Given the description of an element on the screen output the (x, y) to click on. 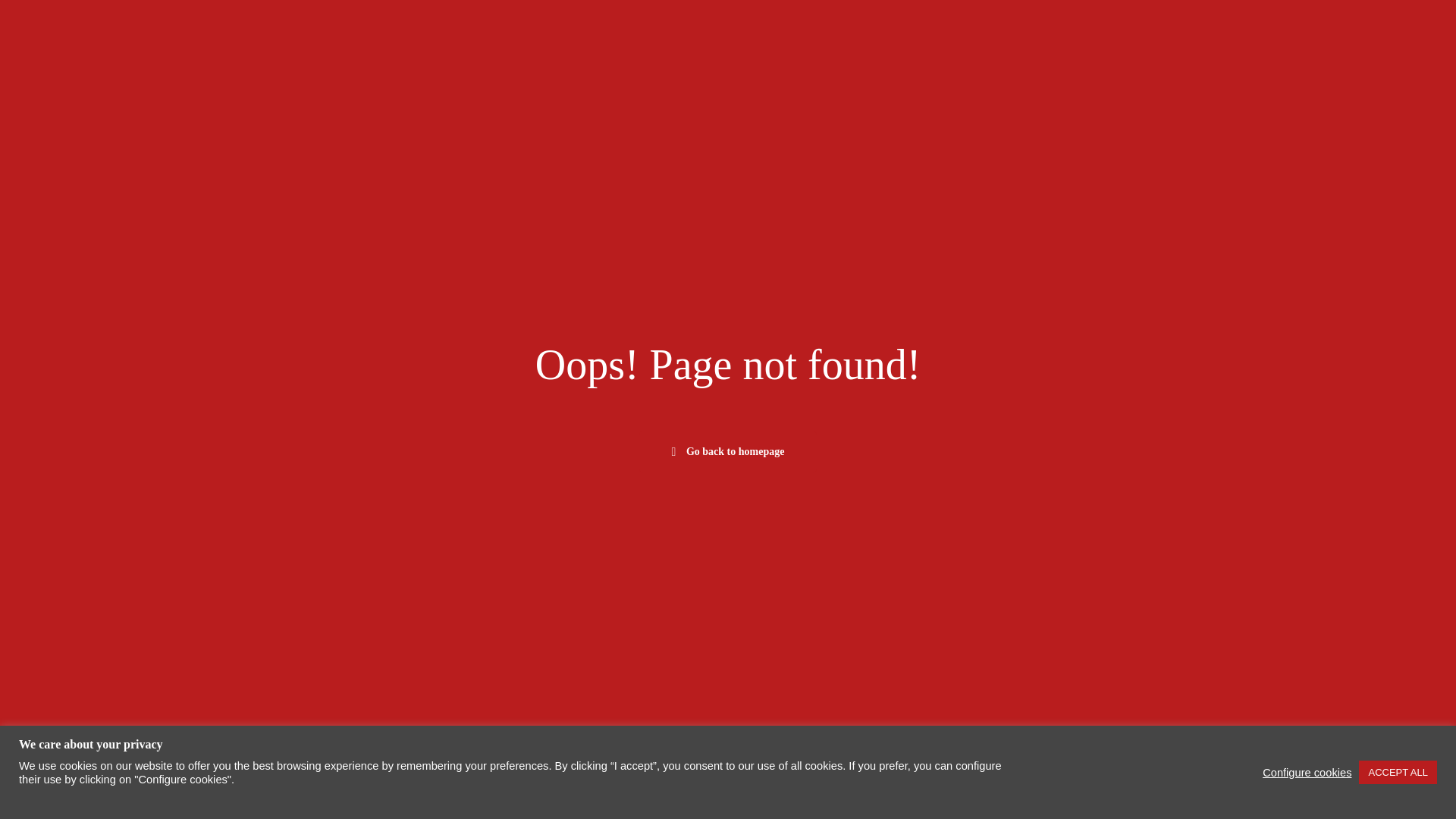
Configure cookies (1306, 772)
Go back to homepage (727, 451)
ACCEPT ALL (1397, 771)
